Given the description of an element on the screen output the (x, y) to click on. 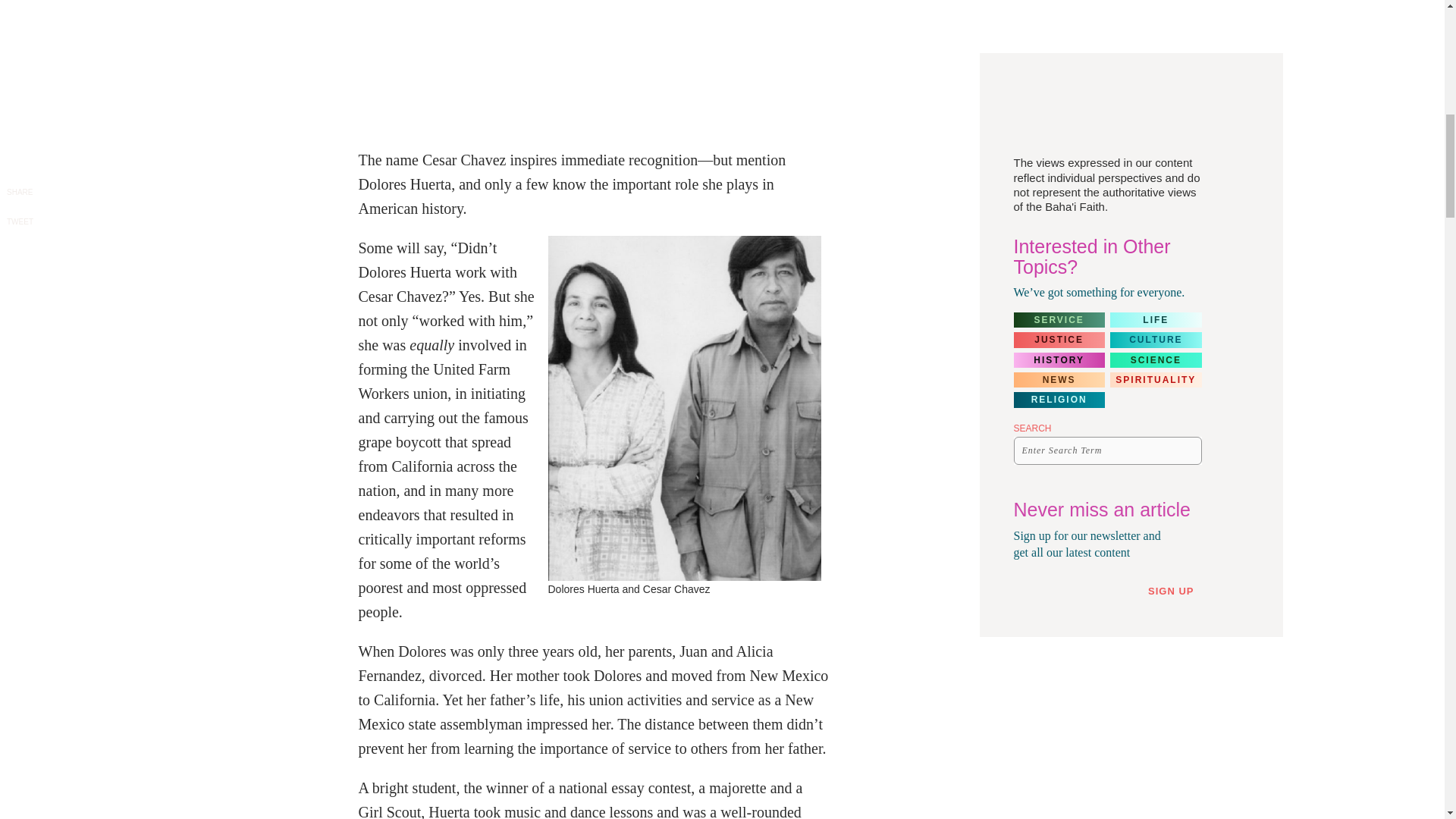
SIGN UP (1176, 590)
LIFE (1155, 319)
SPIRITUALITY (1155, 379)
JUSTICE (1058, 339)
Search for: (1107, 450)
NEWS (1058, 379)
CULTURE (1155, 339)
SERVICE (1058, 319)
HISTORY (1058, 359)
SCIENCE (1155, 359)
